Given the description of an element on the screen output the (x, y) to click on. 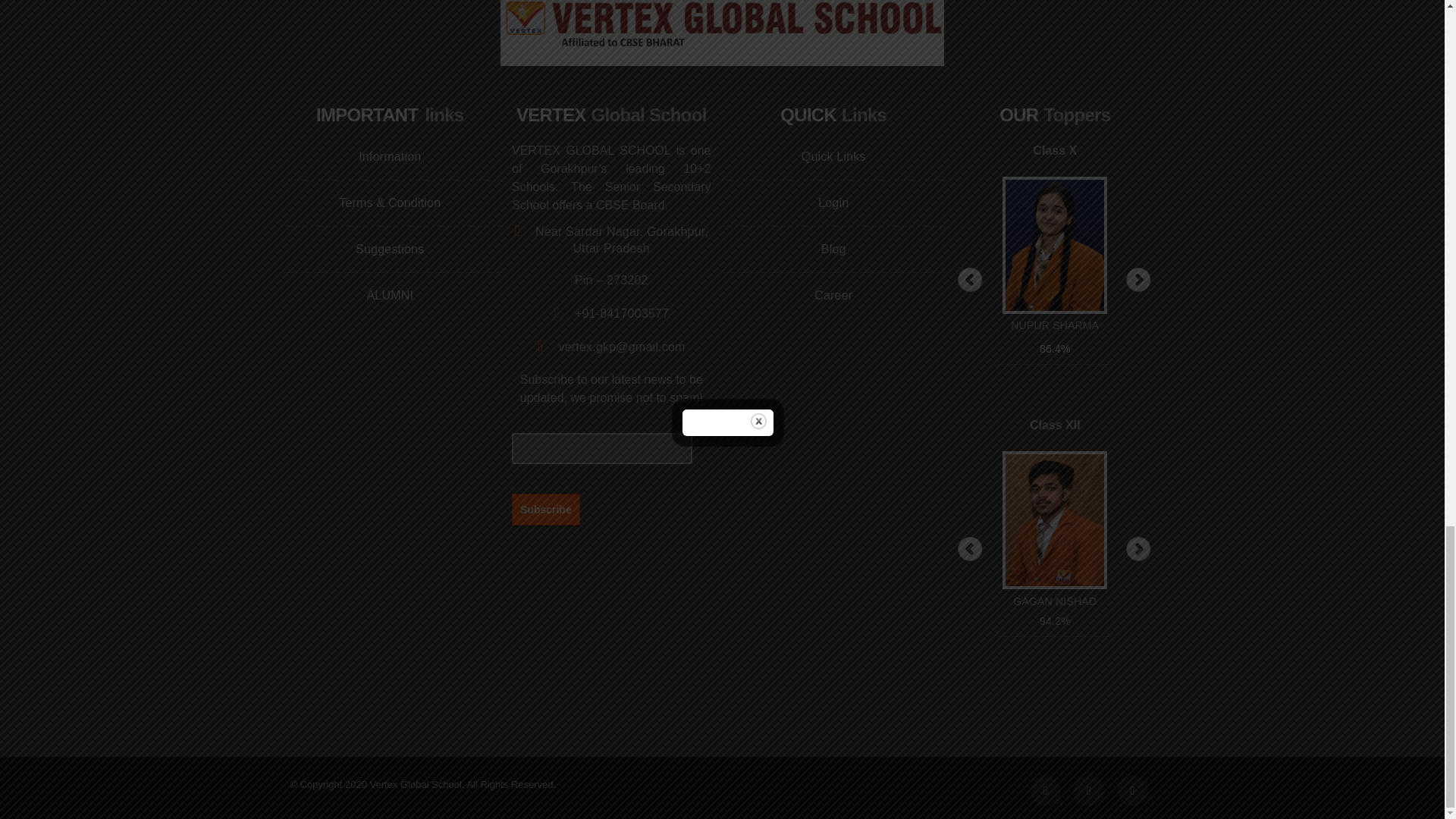
Subscribe (545, 508)
